Given the description of an element on the screen output the (x, y) to click on. 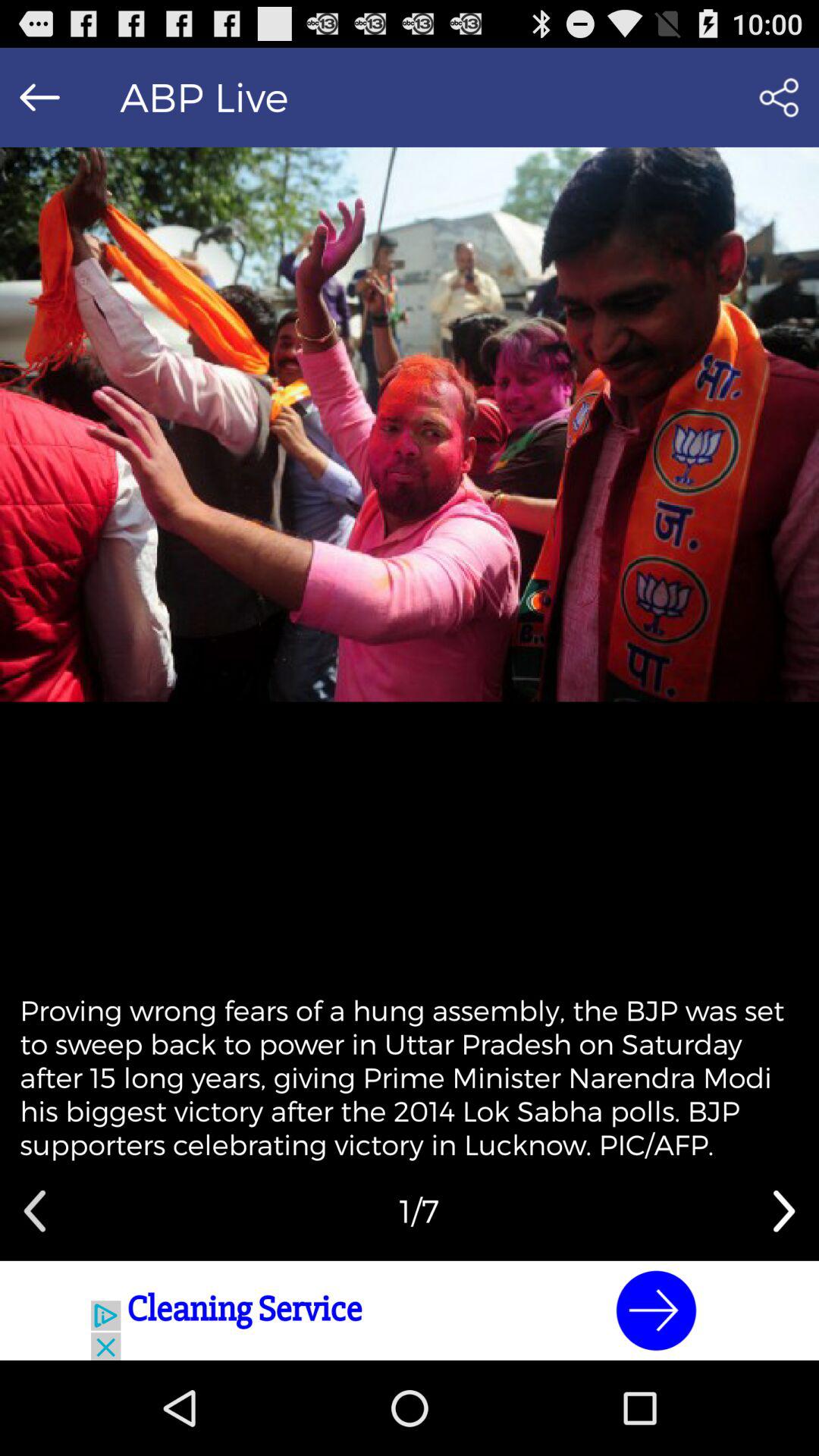
share the article (778, 97)
